Given the description of an element on the screen output the (x, y) to click on. 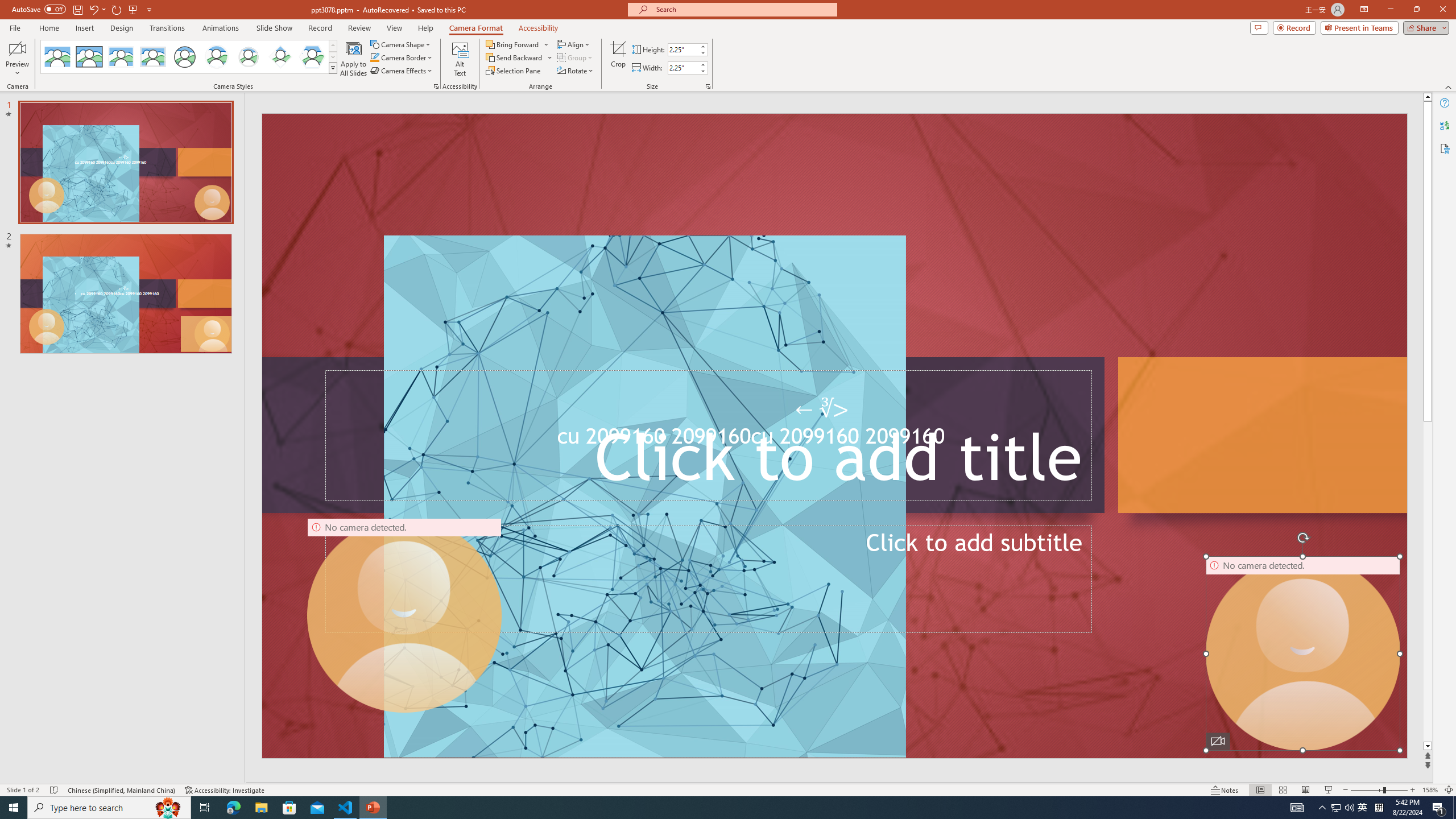
Camera Border Green, Accent 1 (374, 56)
Subtitle TextBox (708, 579)
Camera 9, No camera detected. (404, 615)
Selection Pane... (513, 69)
Camera 16, No camera detected. (1302, 653)
Apply to All Slides (353, 58)
